Given the description of an element on the screen output the (x, y) to click on. 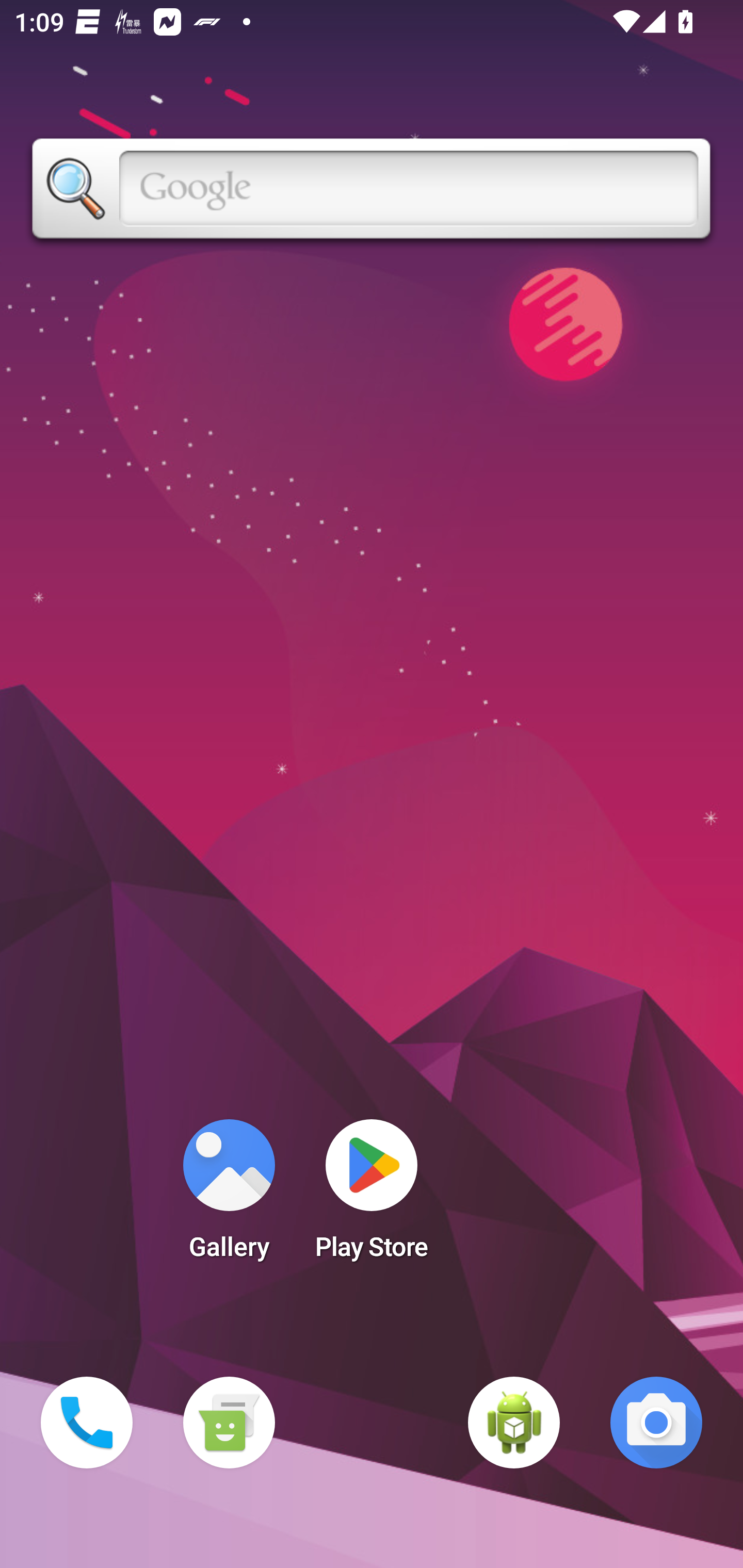
Gallery (228, 1195)
Play Store (371, 1195)
Phone (86, 1422)
Messaging (228, 1422)
WebView Browser Tester (513, 1422)
Camera (656, 1422)
